Given the description of an element on the screen output the (x, y) to click on. 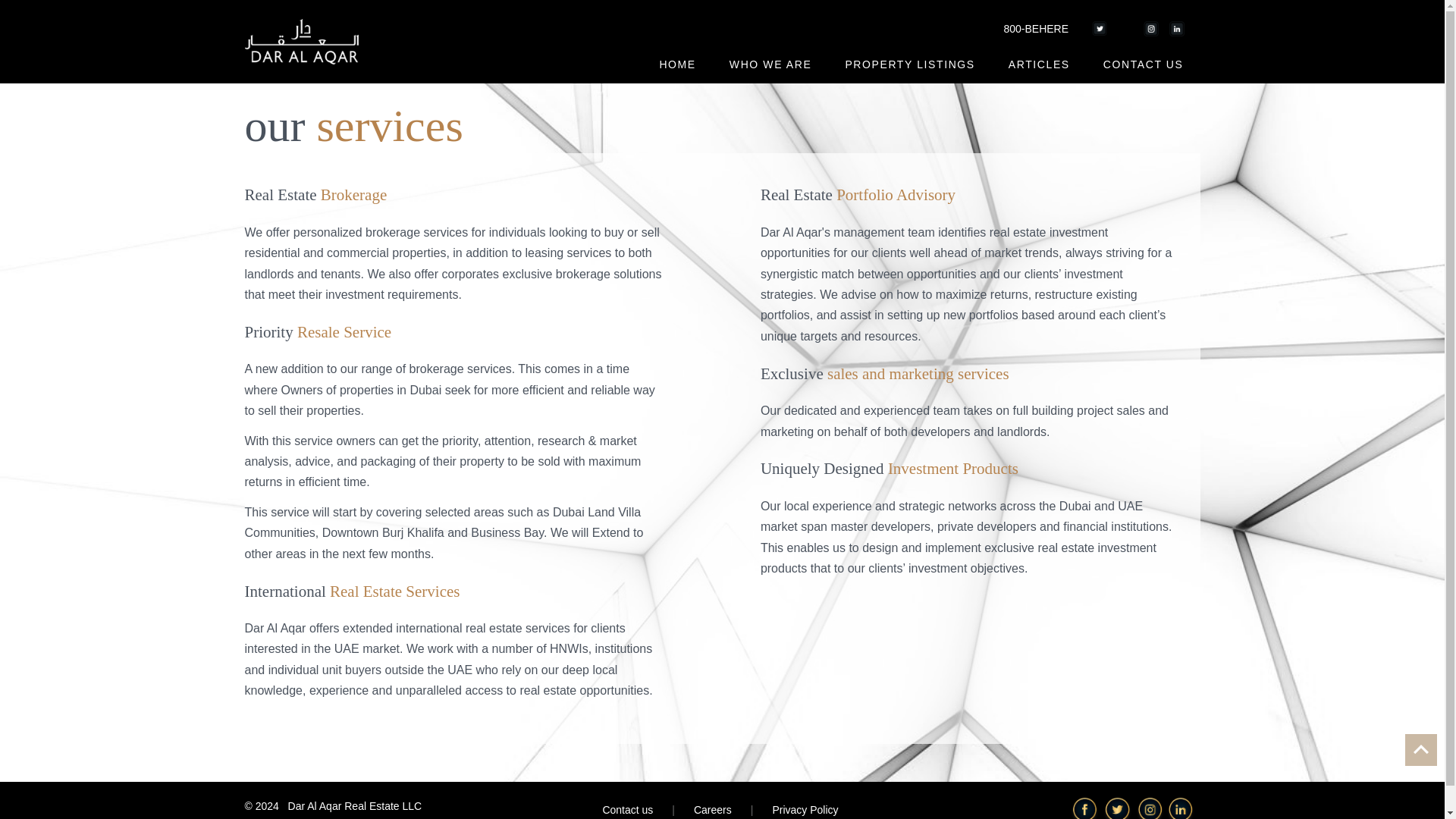
Dar Al Aqar Real Estate LLC (355, 806)
Contact us (627, 809)
ARTICLES (1038, 64)
Careers (712, 809)
CONTACT US (1142, 64)
Privacy Policy (804, 809)
PROPERTY LISTINGS (909, 64)
800 (1026, 28)
WHO WE ARE (770, 64)
HOME (676, 64)
